Given the description of an element on the screen output the (x, y) to click on. 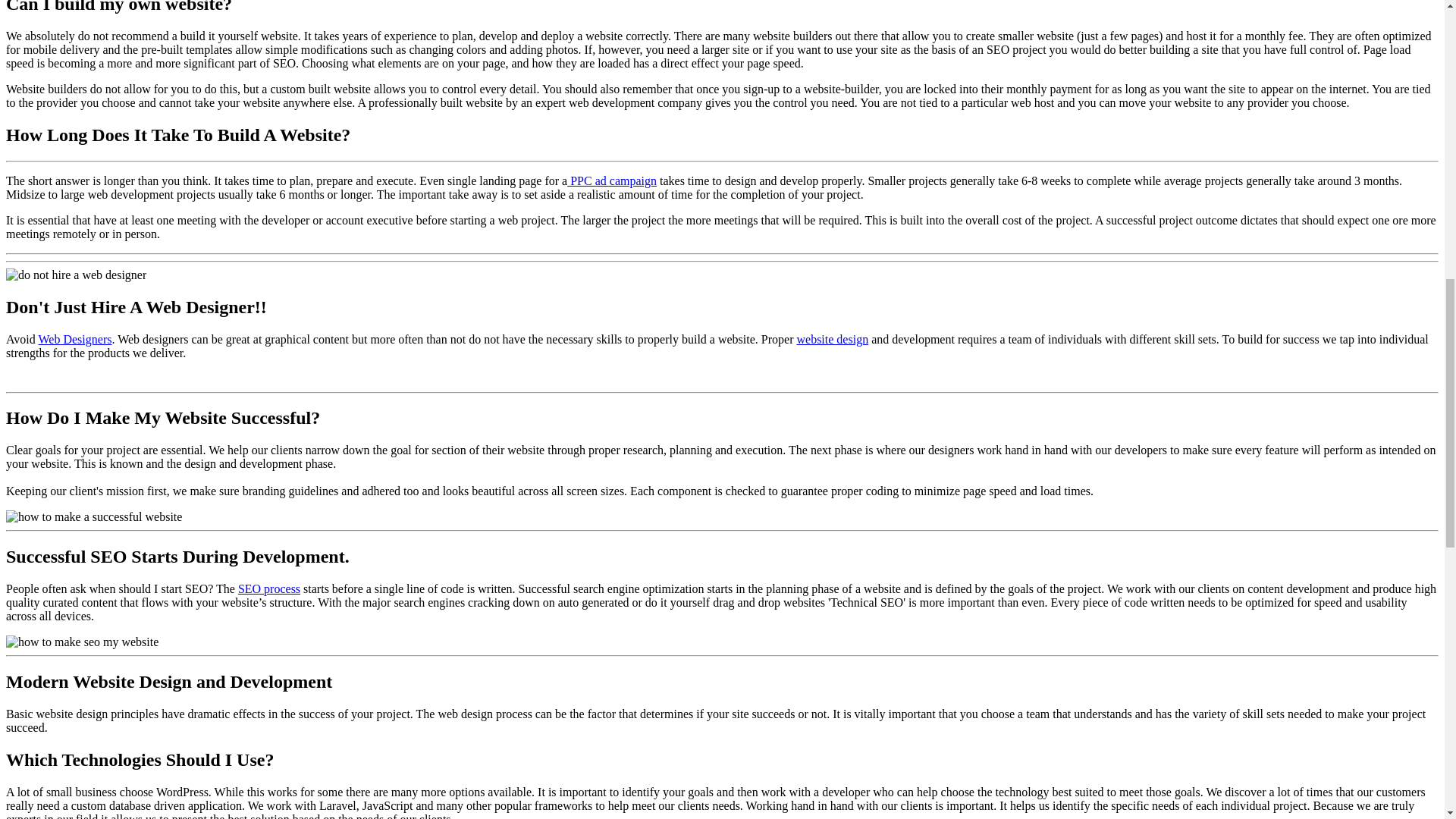
website design (831, 338)
PPC ad campaign (611, 180)
SEO process (268, 588)
Web Designers (75, 338)
